Given the description of an element on the screen output the (x, y) to click on. 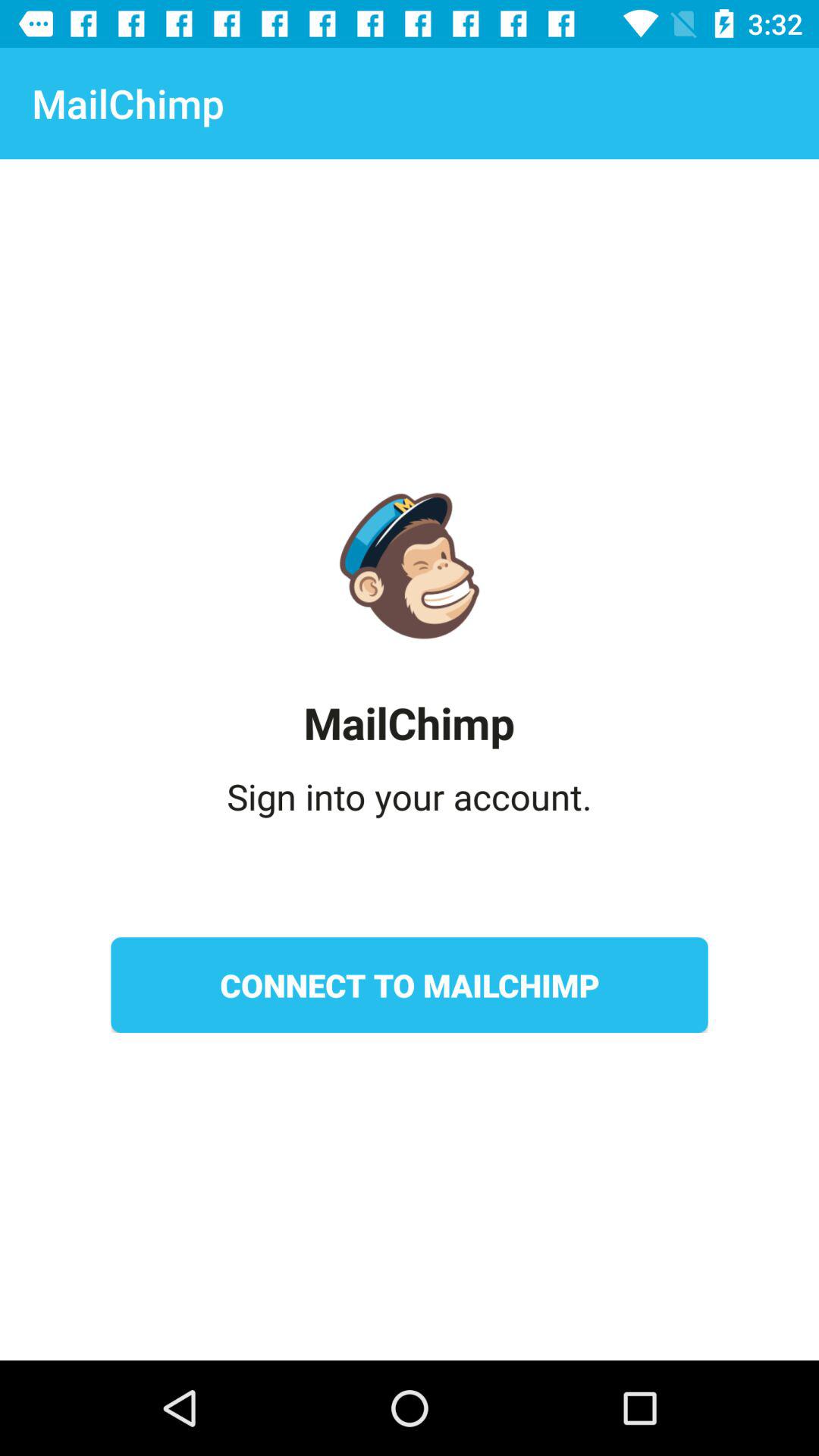
turn on the connect to mailchimp item (409, 984)
